Given the description of an element on the screen output the (x, y) to click on. 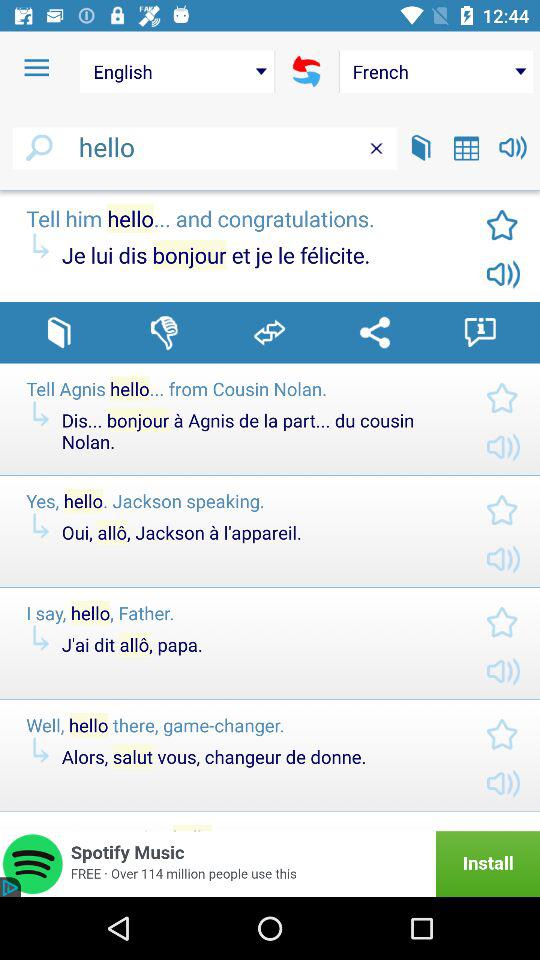
click to open advertisement (270, 864)
